Given the description of an element on the screen output the (x, y) to click on. 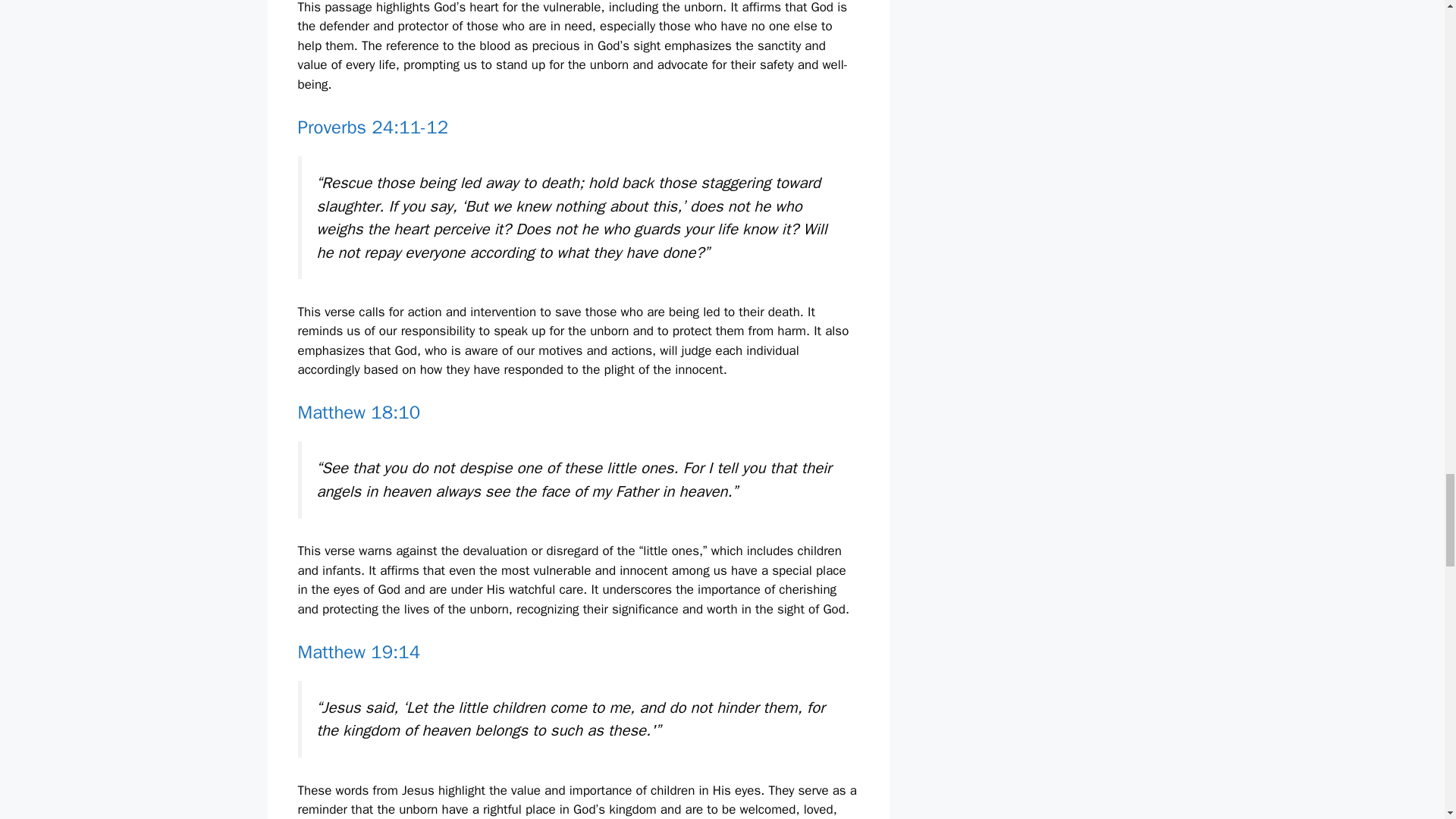
Matthew 18:10 (358, 412)
Matthew 19:14 (358, 651)
Proverbs 24:11-12 (372, 127)
